Given the description of an element on the screen output the (x, y) to click on. 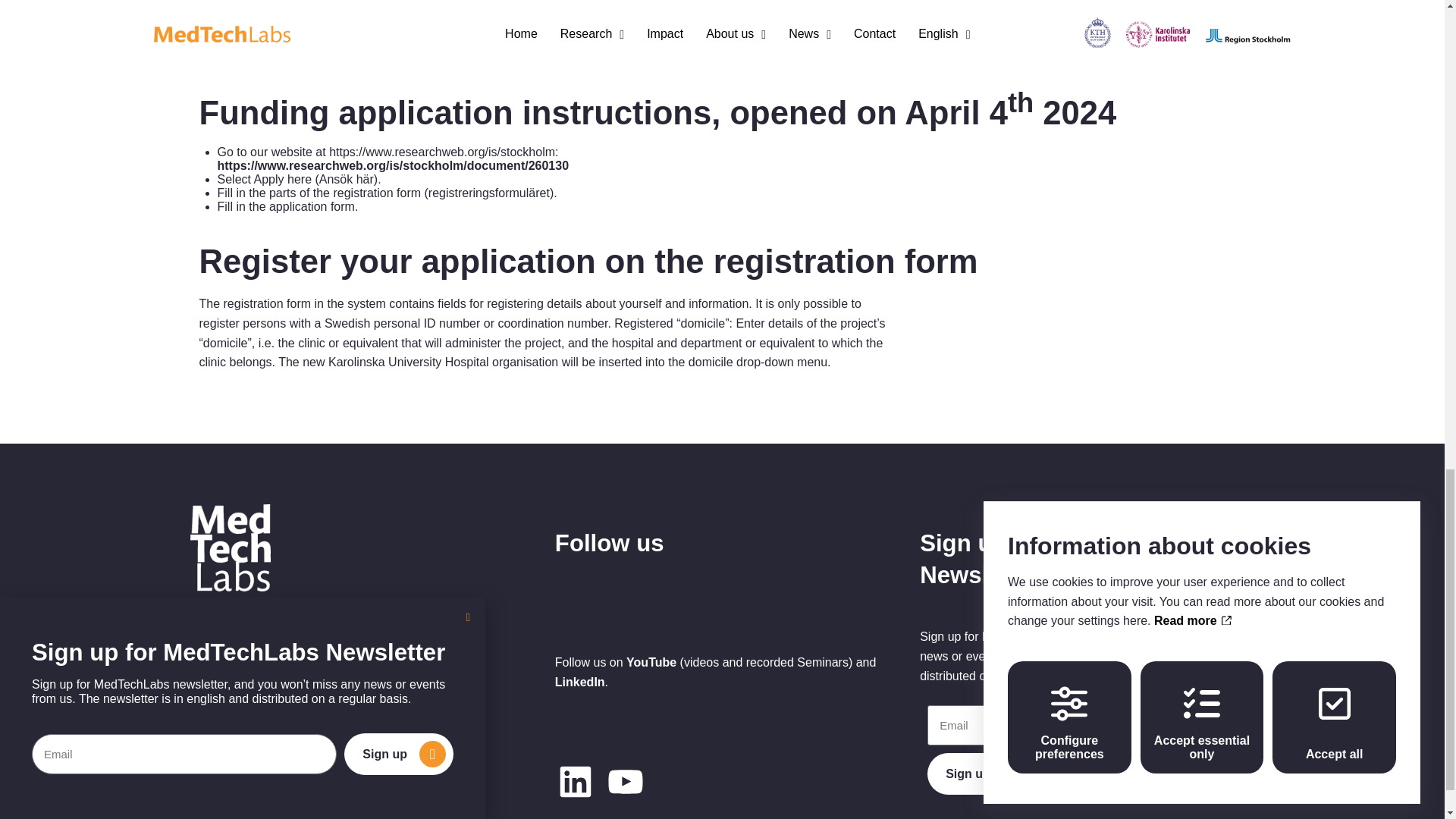
LinkedIn (579, 681)
YouTube (651, 662)
Sign up (1002, 773)
